Given the description of an element on the screen output the (x, y) to click on. 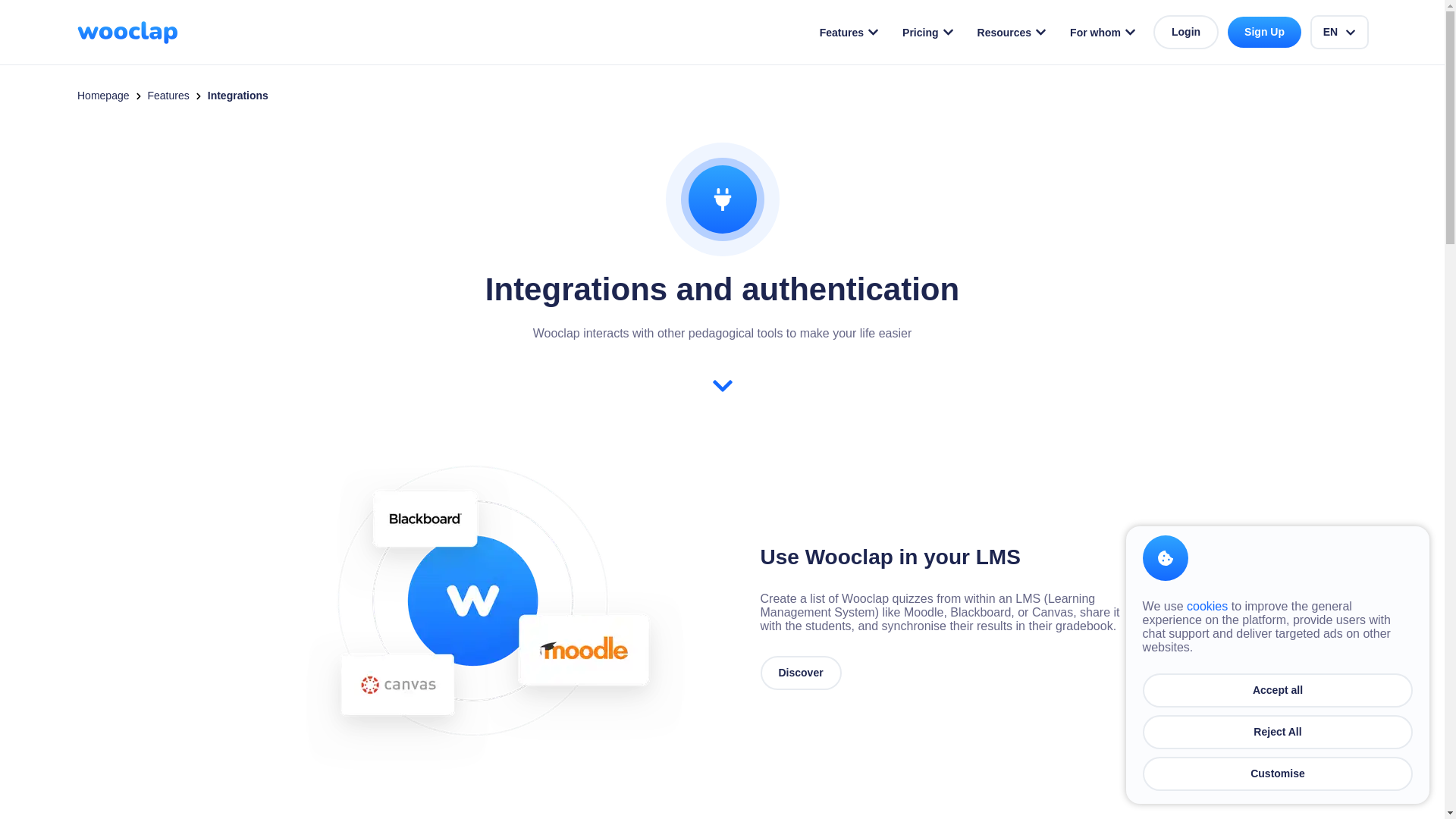
For whom (1102, 32)
Resources (1011, 32)
Sign Up (1264, 32)
Features (849, 32)
Pricing (927, 32)
EN (1339, 31)
Login (1185, 32)
